Given the description of an element on the screen output the (x, y) to click on. 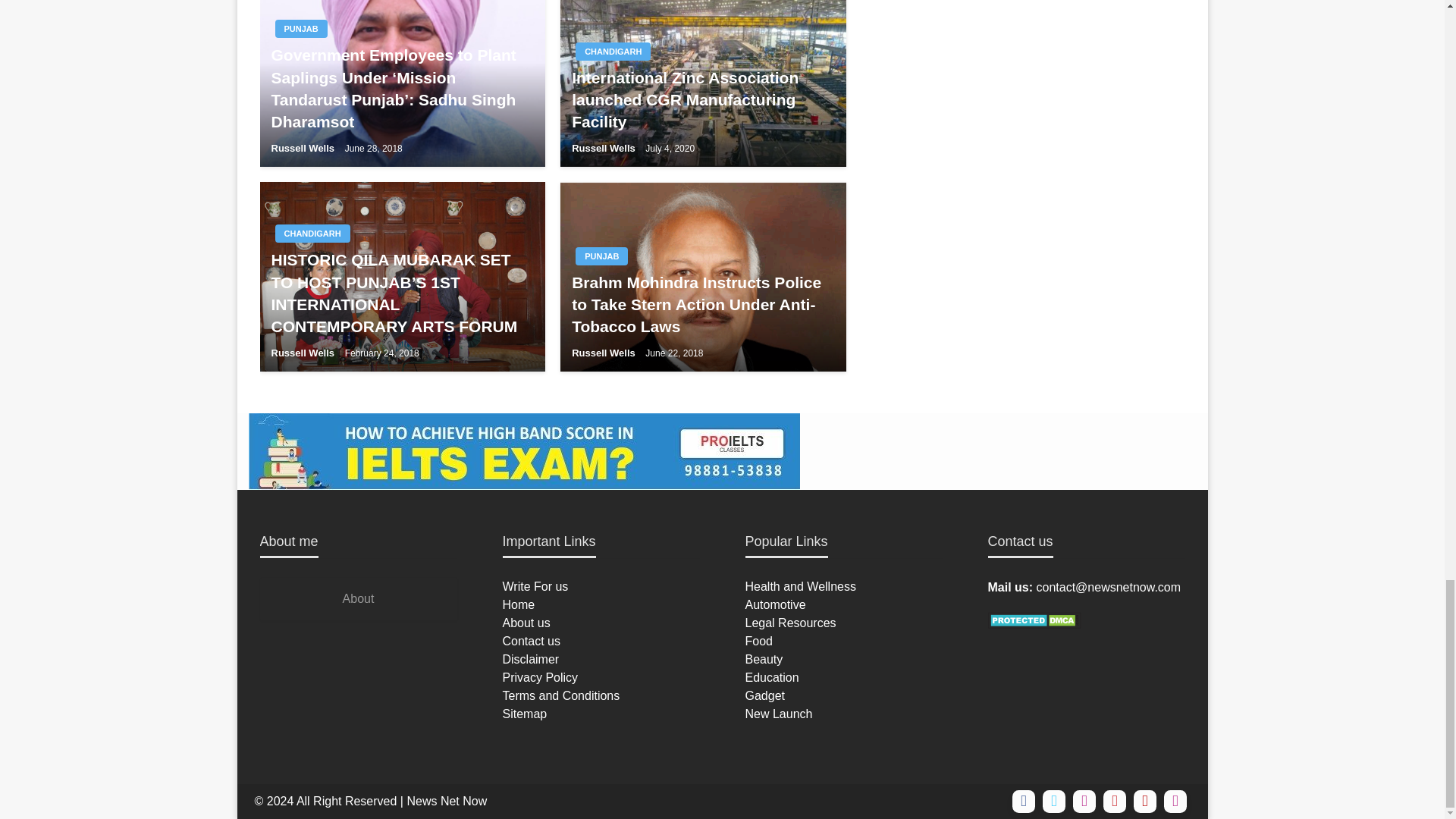
DMCA.com Protection Status (1033, 618)
